Given the description of an element on the screen output the (x, y) to click on. 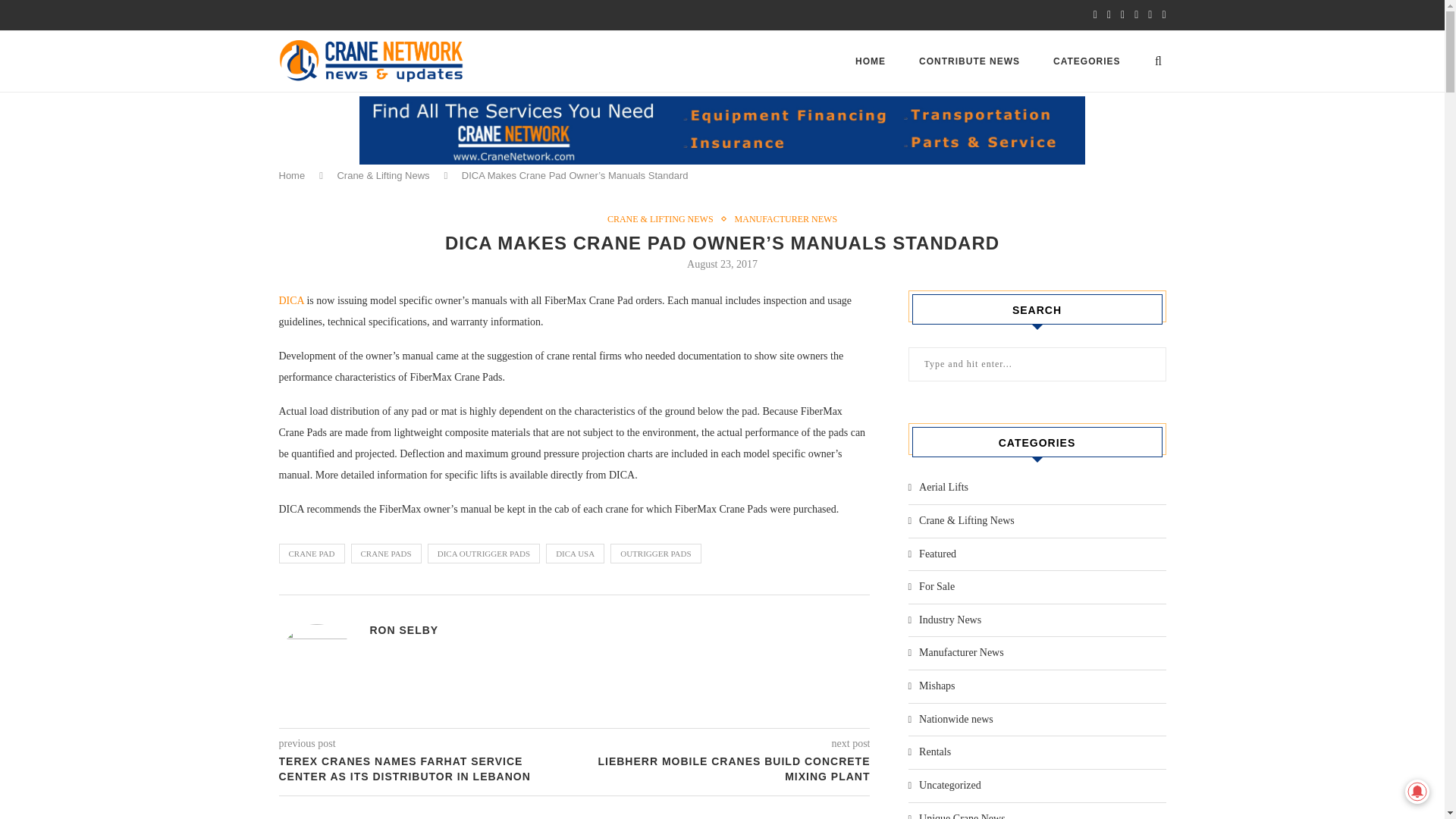
Posts by Ron Selby (404, 630)
View all posts in Manufacturer News (786, 218)
CONTRIBUTE NEWS (969, 61)
